Given the description of an element on the screen output the (x, y) to click on. 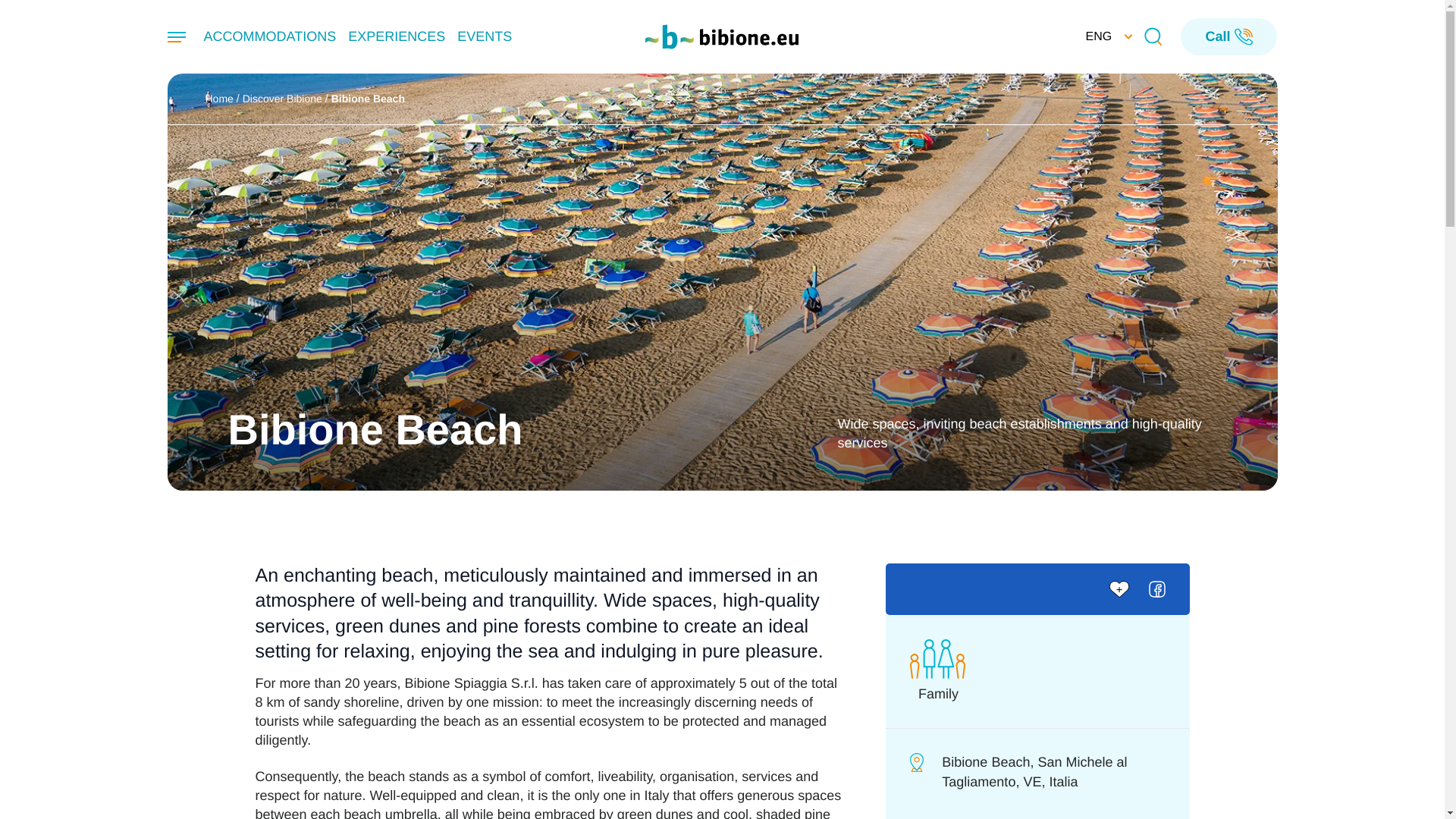
EVENTS (484, 36)
EXPERIENCES (396, 36)
ENG (1106, 36)
ACCOMMODATIONS (269, 36)
Call (1228, 36)
